Given the description of an element on the screen output the (x, y) to click on. 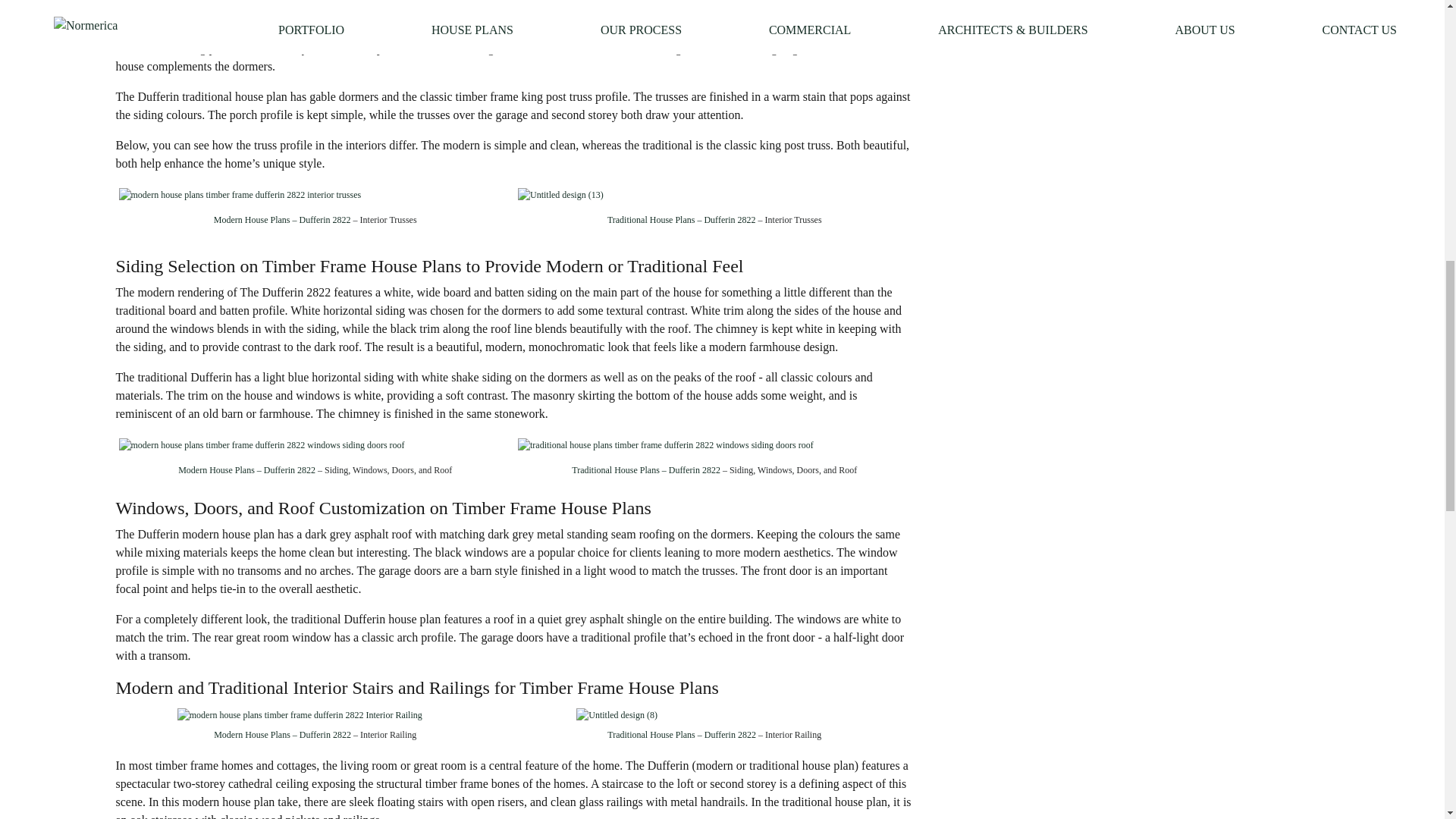
Dufferin 2822 modern house plan (218, 11)
traditional Dufferin 2822 house plan (666, 29)
